Given the description of an element on the screen output the (x, y) to click on. 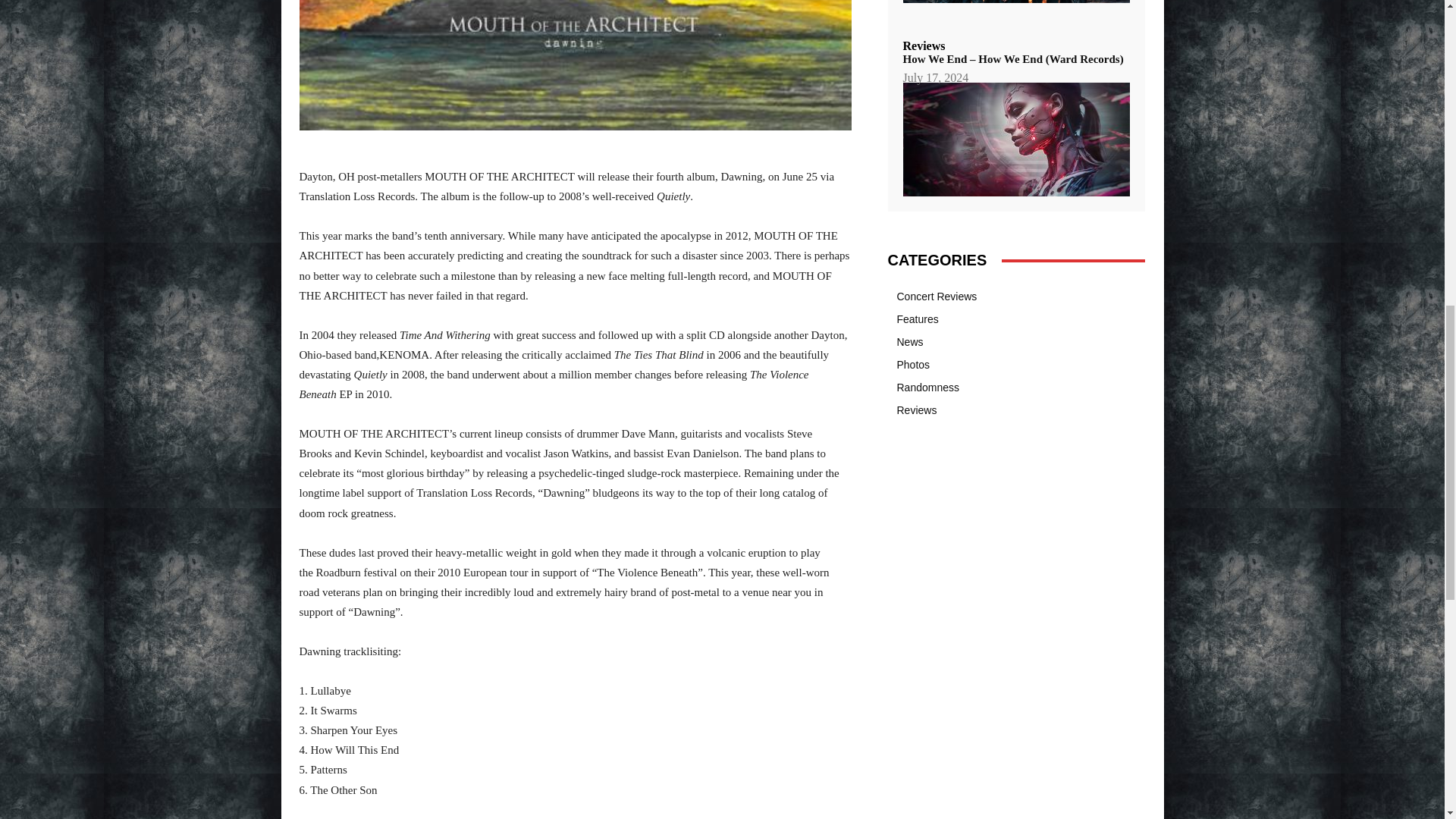
mouthdawning (574, 65)
